Given the description of an element on the screen output the (x, y) to click on. 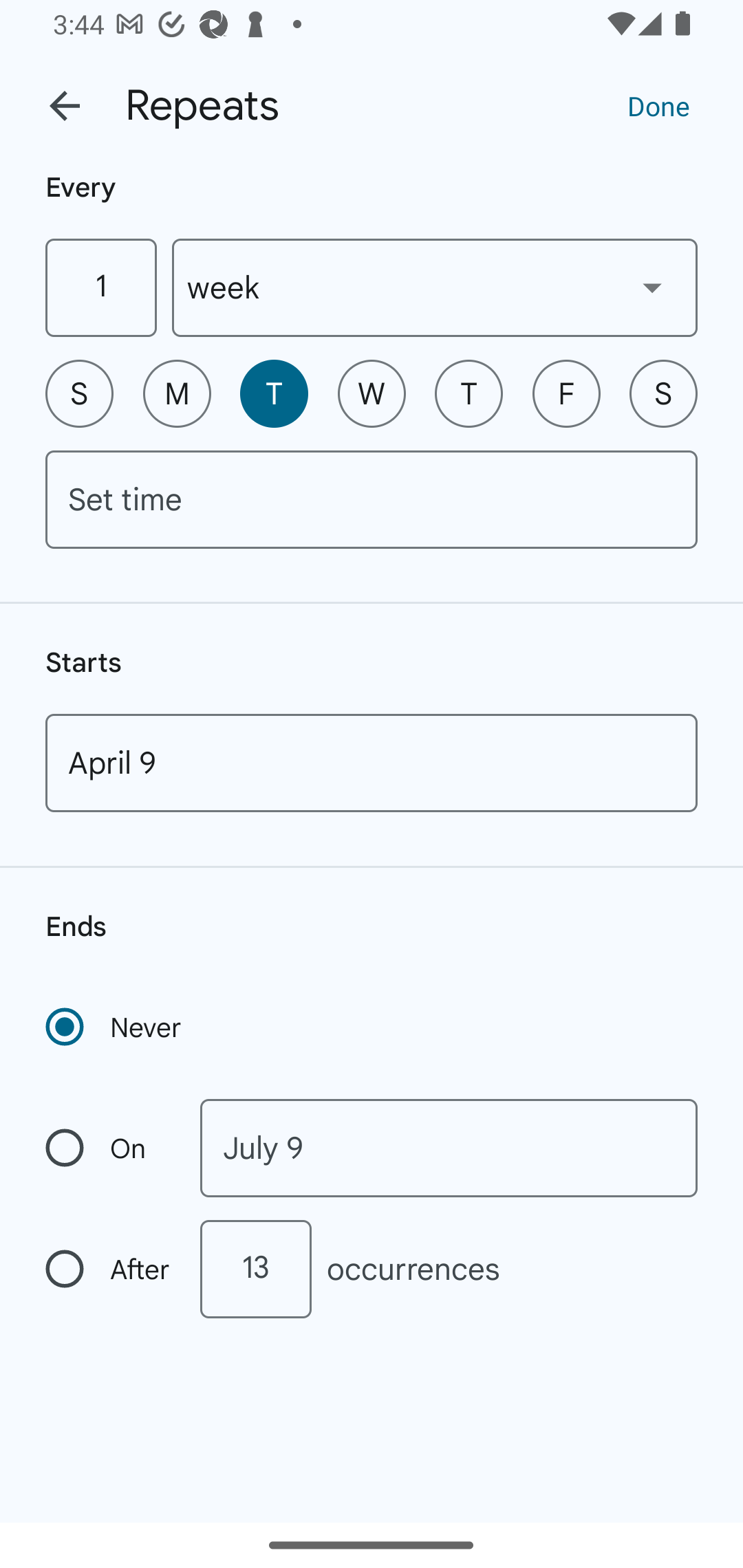
Back (64, 105)
Done (658, 105)
1 (100, 287)
week (434, 287)
Show dropdown menu (652, 286)
S Sunday (79, 393)
M Monday (177, 393)
T Tuesday, selected (273, 393)
W Wednesday (371, 393)
T Thursday (468, 393)
F Friday (566, 393)
S Saturday (663, 393)
Set time (371, 499)
April 9 (371, 762)
Never Recurrence never ends (115, 1026)
July 9 (448, 1148)
On Recurrence ends on a specific date (109, 1148)
13 (255, 1268)
